Given the description of an element on the screen output the (x, y) to click on. 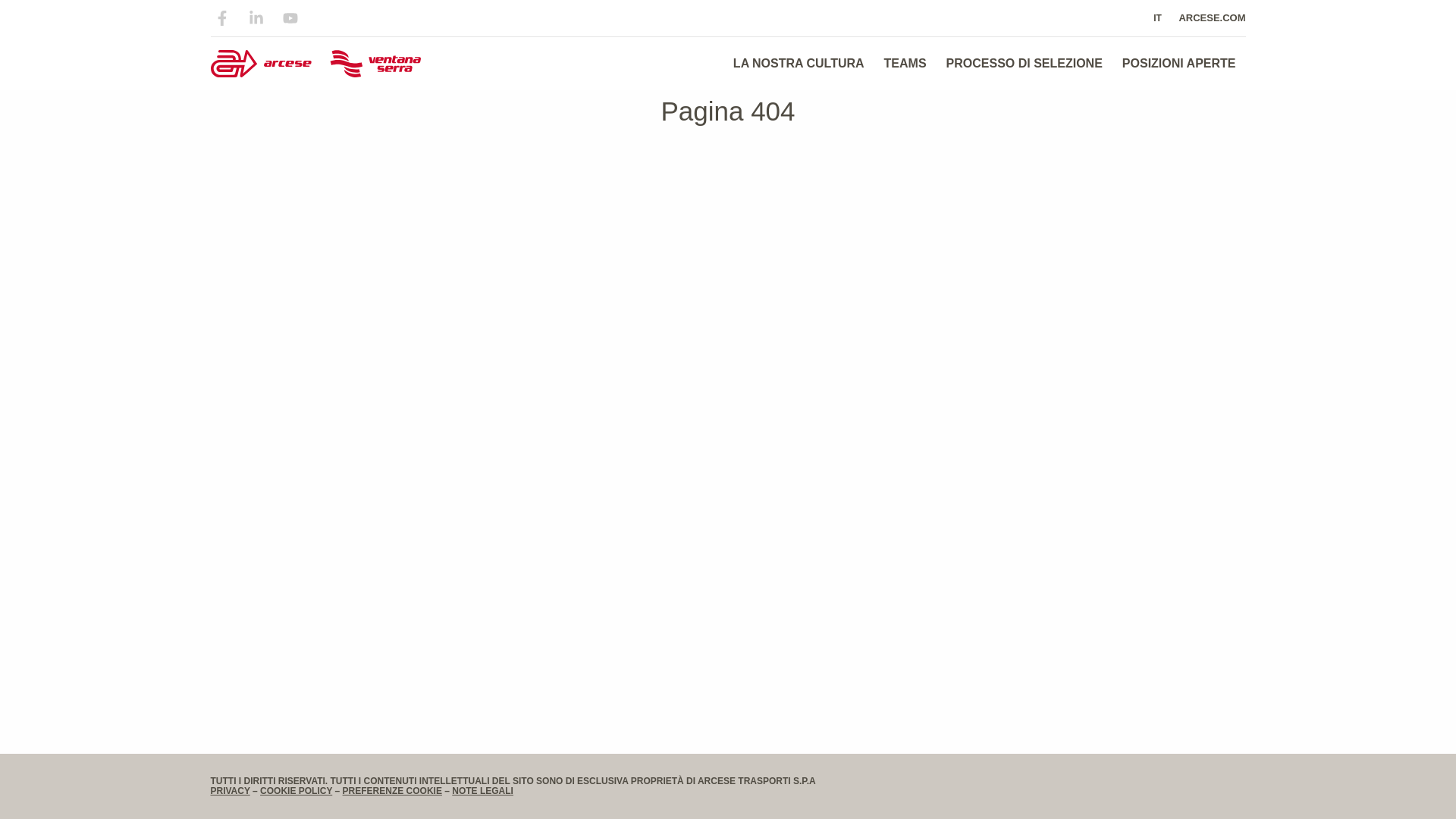
PRIVACY (230, 790)
TEAMS (904, 62)
NOTE LEGALI (482, 790)
COOKIE POLICY (295, 790)
POSIZIONI APERTE (1179, 62)
PROCESSO DI SELEZIONE (1024, 62)
Salta al contenuto (15, 7)
ARCESE.COM (1207, 18)
PREFERENZE COOKIE (392, 790)
LA NOSTRA CULTURA (798, 62)
